Given the description of an element on the screen output the (x, y) to click on. 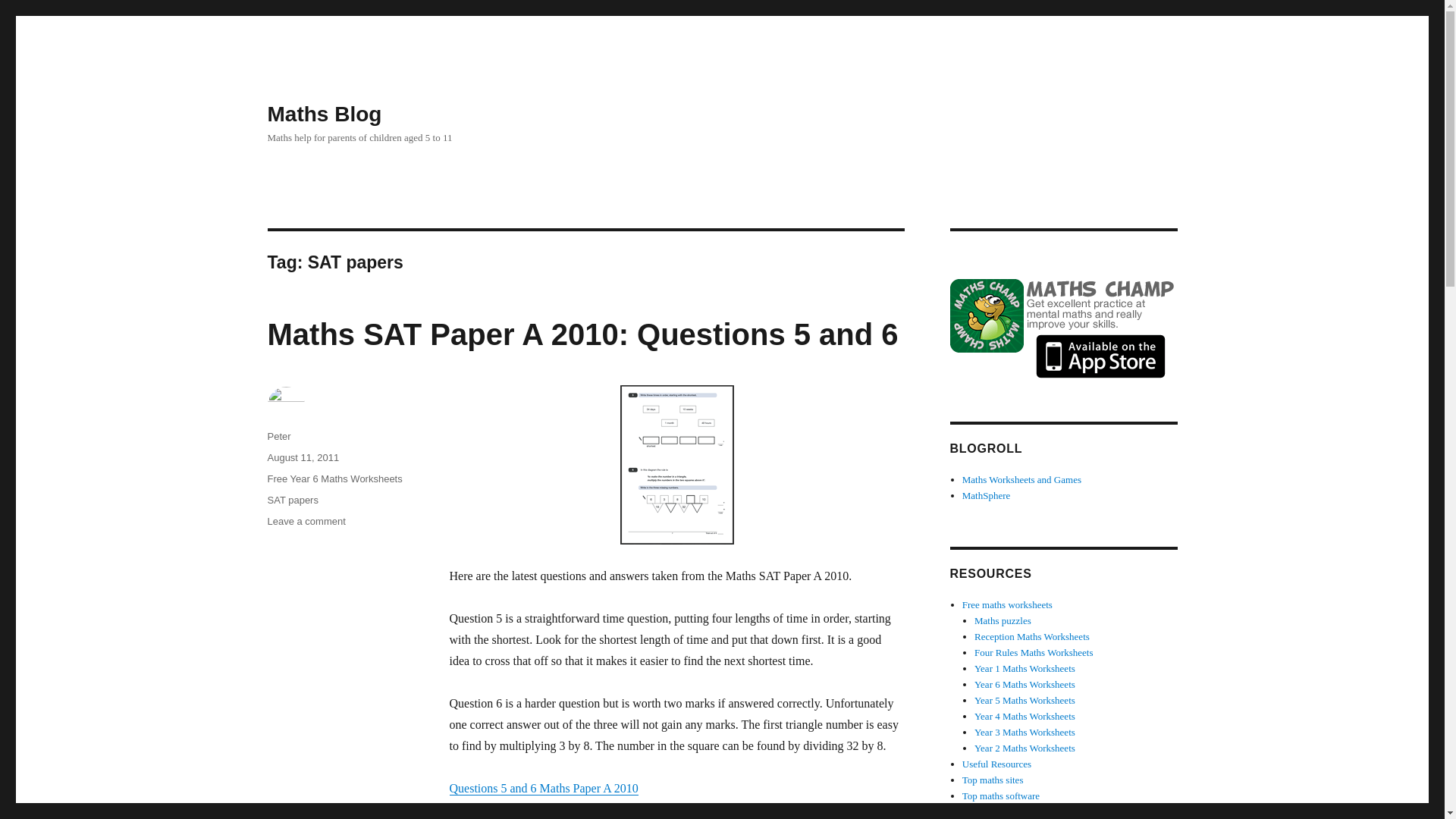
Year 1 Maths Worksheets (1024, 668)
Questions 5 and 6 Maths Paper A 2010 (542, 788)
Year 2 Maths Worksheets (1024, 747)
Free Year 6 Maths Worksheets (333, 478)
Reception Maths Worksheets (1031, 636)
Year 3 Maths Worksheets (1024, 731)
Four Rules Maths Worksheets (1033, 652)
SAT papers (291, 500)
Reception Maths Worksheets (1031, 636)
Free maths worksheets (1007, 604)
Maths SAT Paper A 2010: Questions 5 and 6 (582, 334)
Primary Maths Worksheets and Maths Games (1021, 479)
Free maths worksheets (1007, 604)
Useful Resources (305, 521)
